Given the description of an element on the screen output the (x, y) to click on. 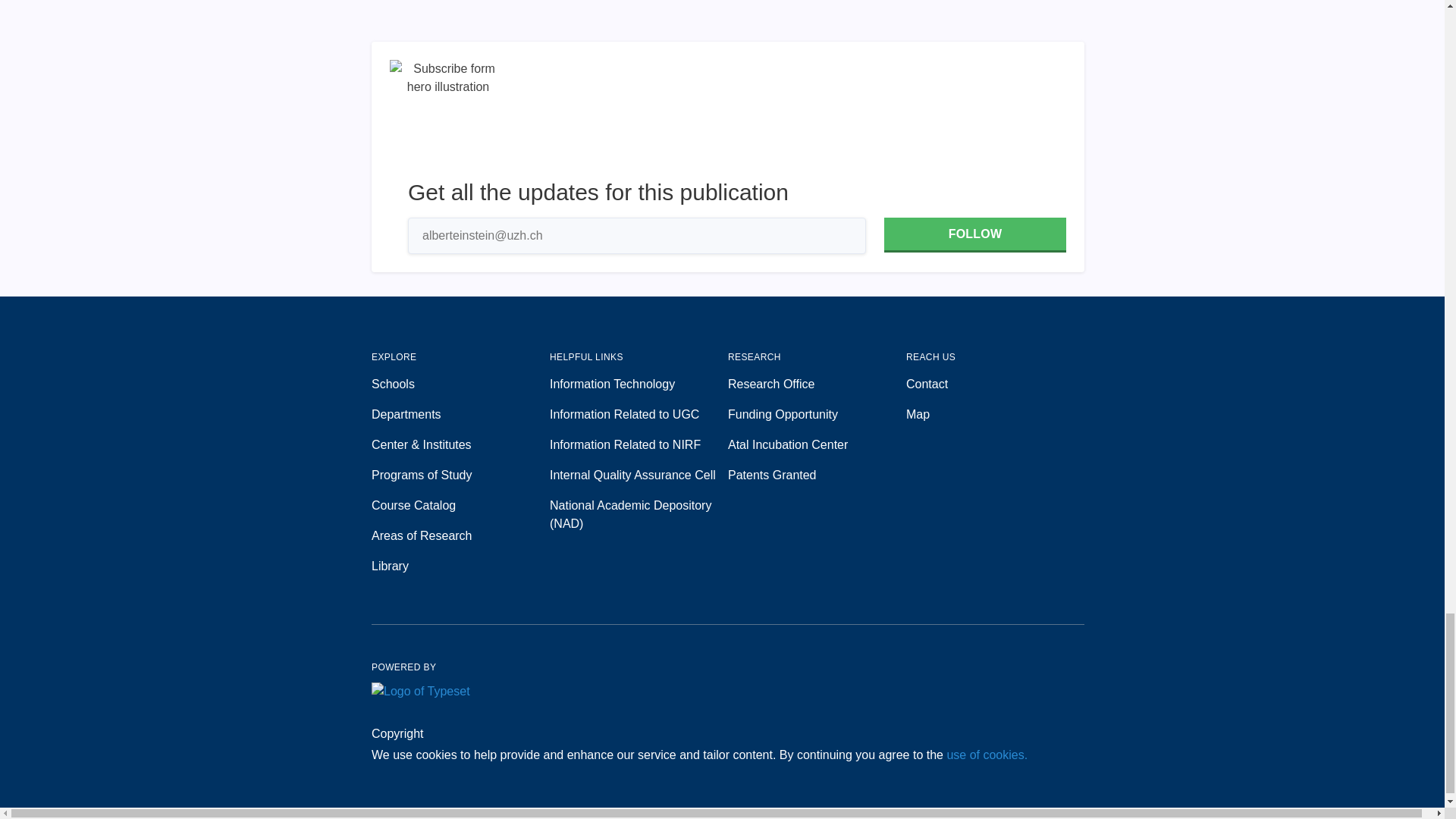
Subscribe form hero illustration (448, 117)
Information Technology (639, 384)
Areas of Research (460, 536)
Internal Quality Assurance Cell (639, 475)
Information Related to NIRF (639, 444)
Programs of Study (460, 475)
Library (460, 566)
FOLLOW (974, 234)
Logo of Typeset (420, 691)
Schools (460, 384)
